Given the description of an element on the screen output the (x, y) to click on. 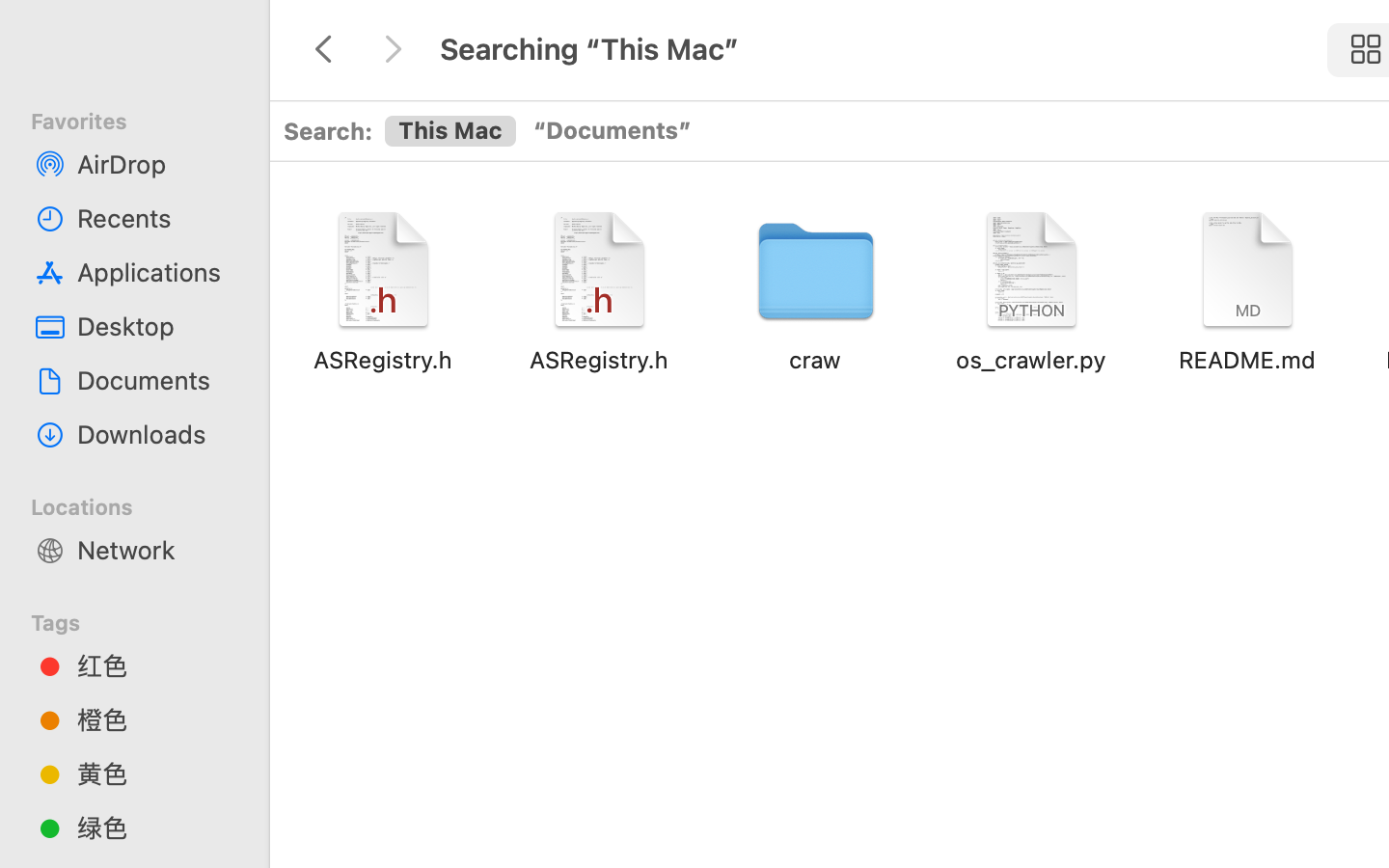
<AXUIElement 0x14c1d5f00> {pid=510} Element type: AXRadioGroup (543, 131)
Tags Element type: AXStaticText (145, 619)
红色 Element type: AXStaticText (155, 665)
Search: Element type: AXStaticText (327, 129)
橙色 Element type: AXStaticText (155, 719)
